Given the description of an element on the screen output the (x, y) to click on. 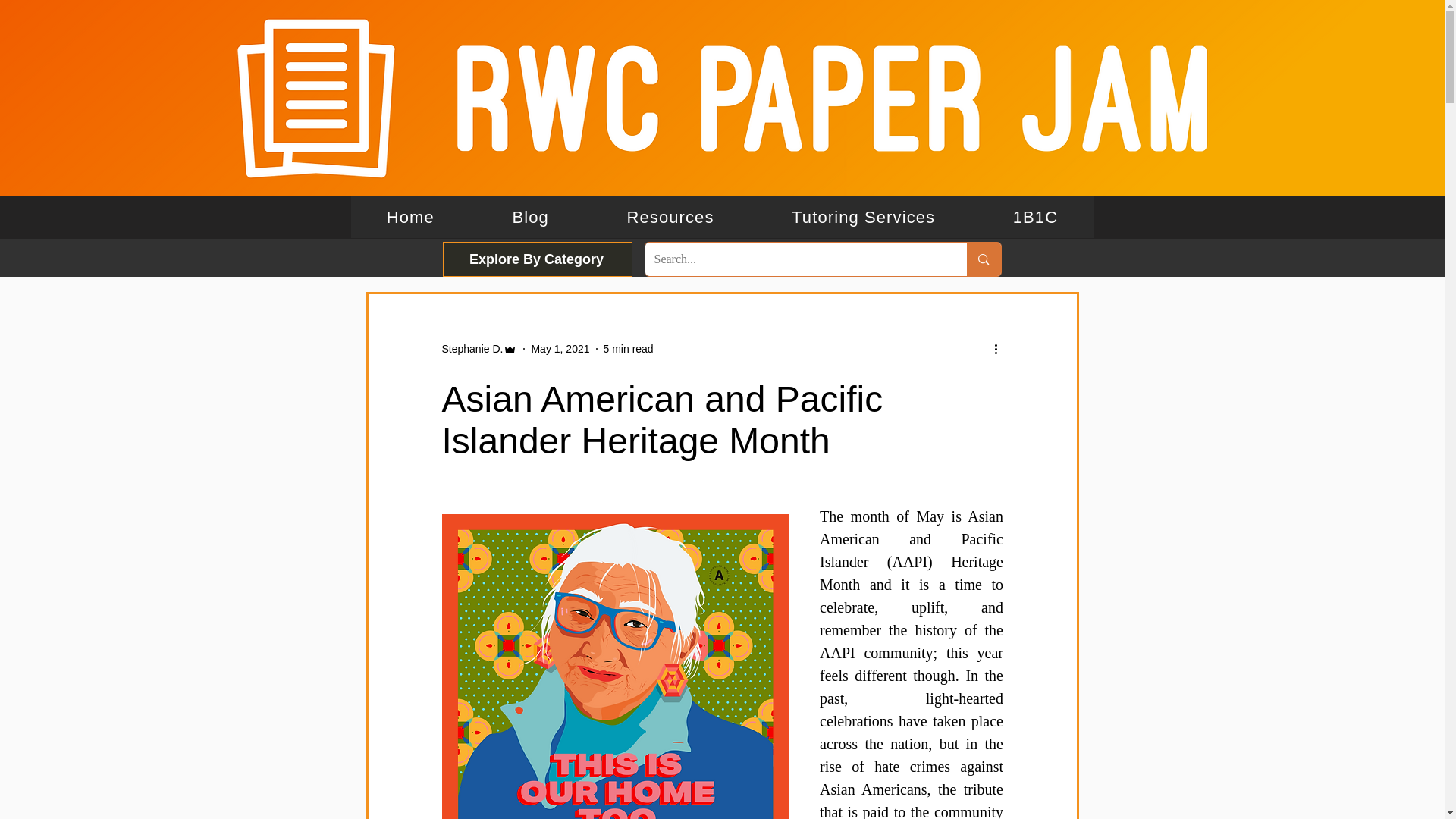
Home (410, 217)
Tutoring Services (863, 217)
May 1, 2021 (560, 348)
Stephanie D. (478, 349)
Blog (530, 217)
Stephanie D. (471, 349)
Explore By Category (536, 258)
Resources (721, 217)
5 min read (670, 217)
